Given the description of an element on the screen output the (x, y) to click on. 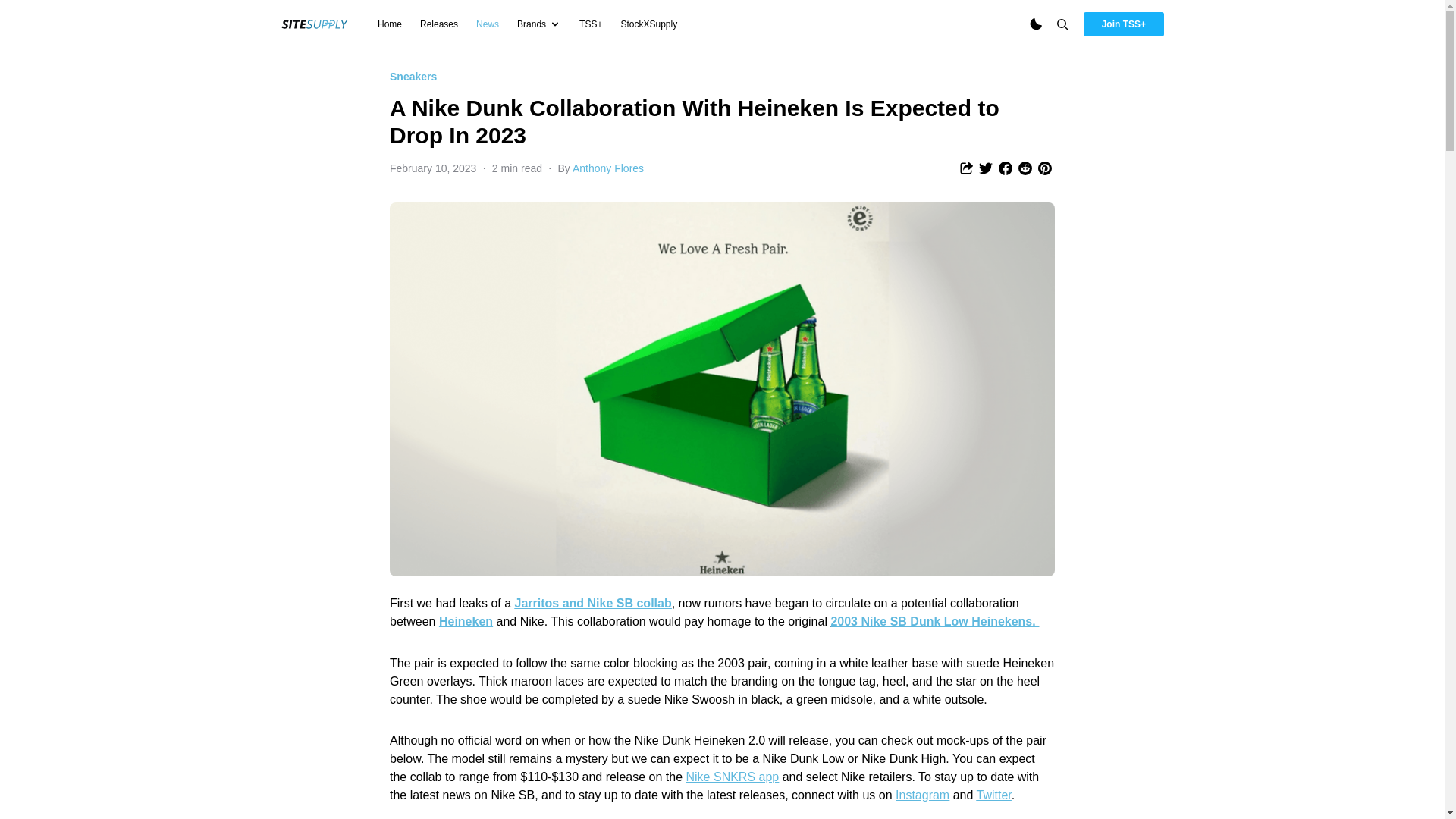
News (487, 23)
StockXSupply (648, 23)
Twitter (992, 794)
Jarritos and Nike SB collab (593, 603)
Heineken (466, 621)
2003 Nike SB Dunk Low Heinekens.  (934, 621)
Instagram (922, 794)
Releases (439, 23)
Anthony Flores (607, 168)
Nike SNKRS app (731, 776)
Home (389, 23)
